Given the description of an element on the screen output the (x, y) to click on. 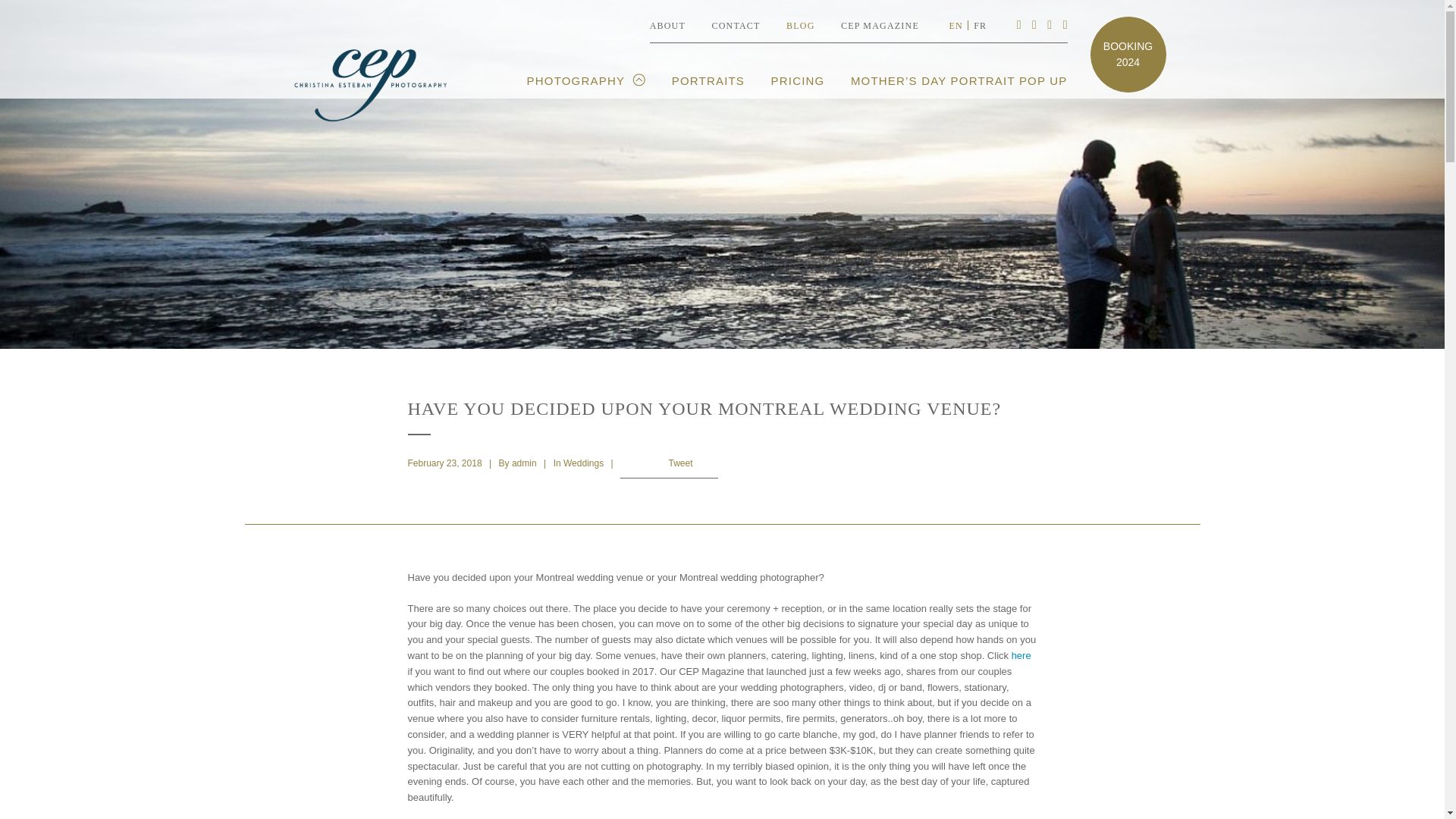
BLOG (799, 25)
ABOUT (667, 25)
BOOKING 2024 (1127, 54)
Christina Esteban Photography (368, 84)
PORTRAITS (707, 88)
PRICING (798, 88)
CONTACT (735, 25)
FR (980, 25)
EN (955, 25)
CEP MAGAZINE (879, 25)
PHOTOGRAPHY (586, 88)
